Given the description of an element on the screen output the (x, y) to click on. 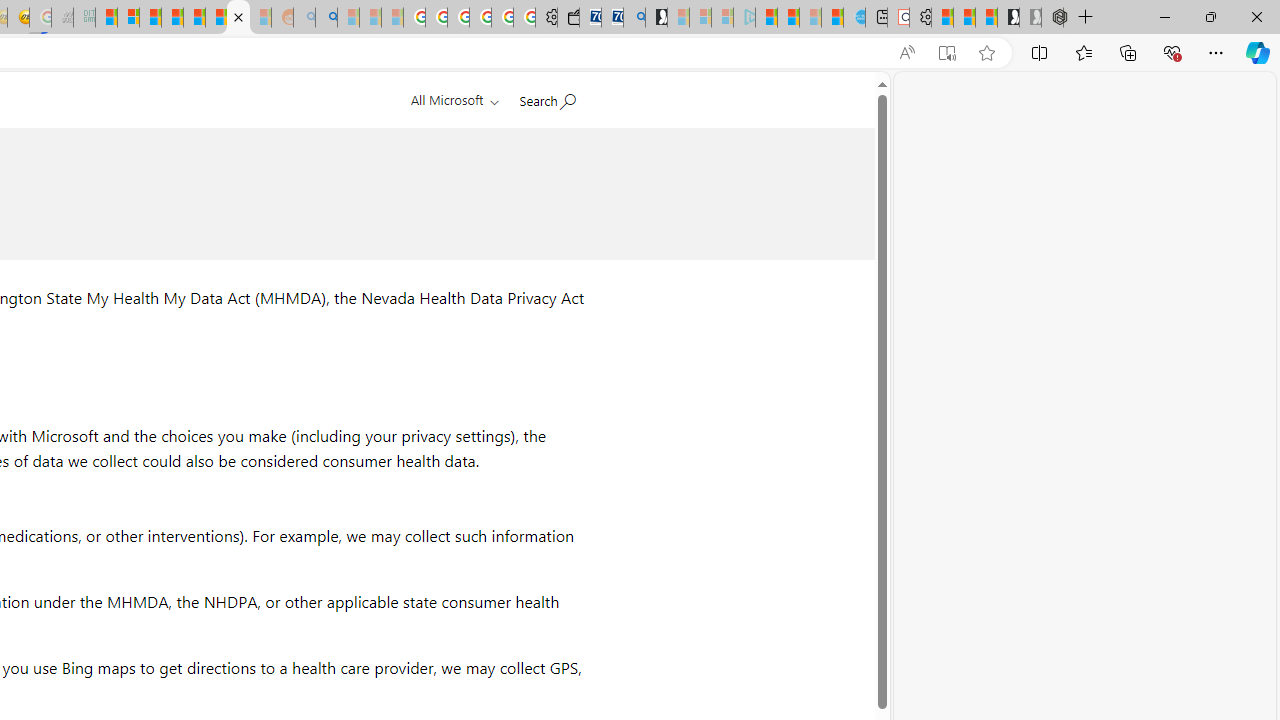
Student Loan Update: Forgiveness Program Ends This Month (172, 17)
Kinda Frugal - MSN (216, 17)
